Given the description of an element on the screen output the (x, y) to click on. 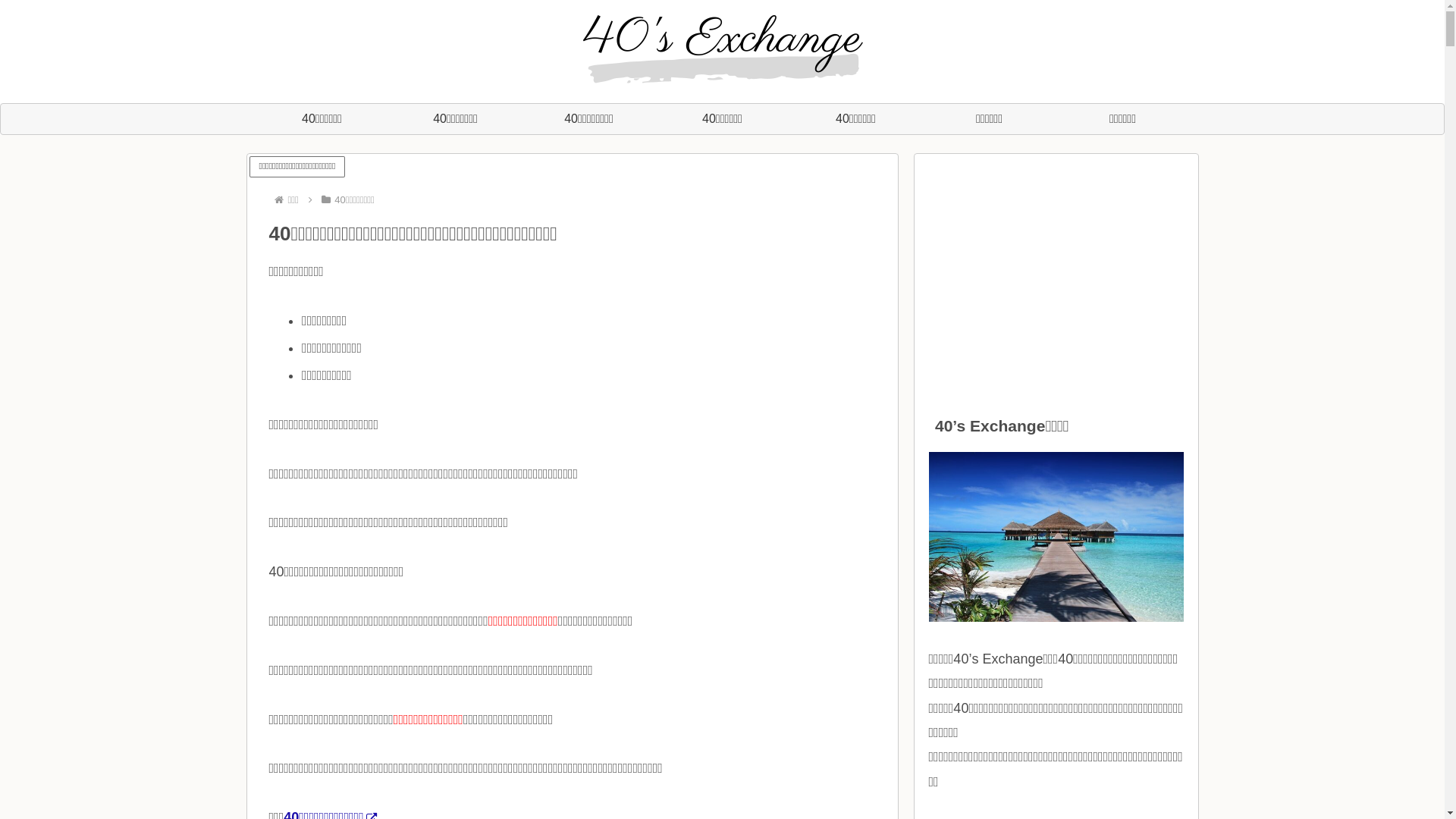
Advertisement Element type: hover (1055, 274)
